Given the description of an element on the screen output the (x, y) to click on. 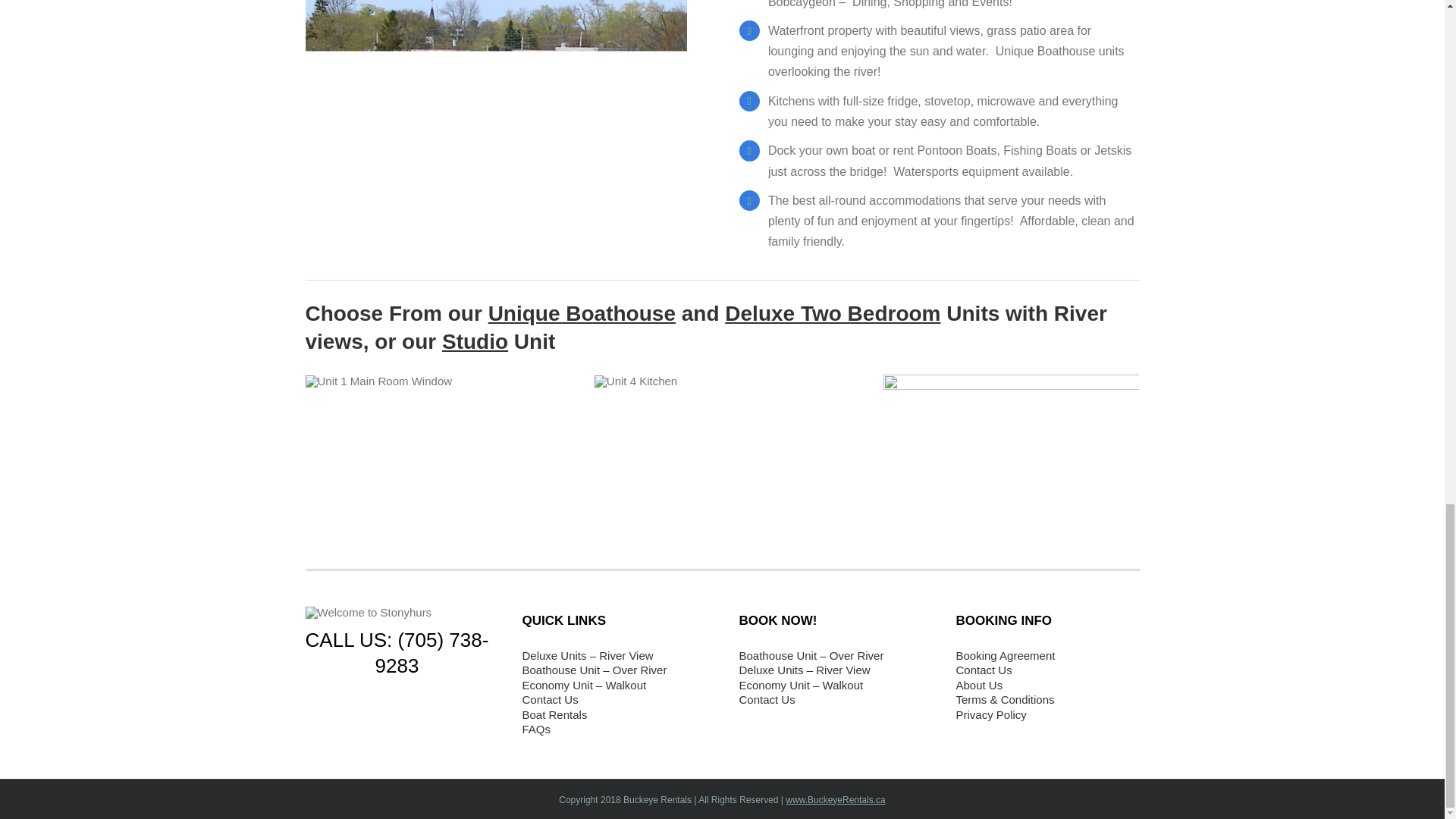
Welcome to Stonyhurst New Sign (367, 612)
Boathouse Outside (1010, 459)
Unique Boathouse (581, 313)
Unit 4 Kitchen2 (635, 381)
Unit 1 Main Room Window (377, 381)
bobcaygeon small (494, 120)
